Given the description of an element on the screen output the (x, y) to click on. 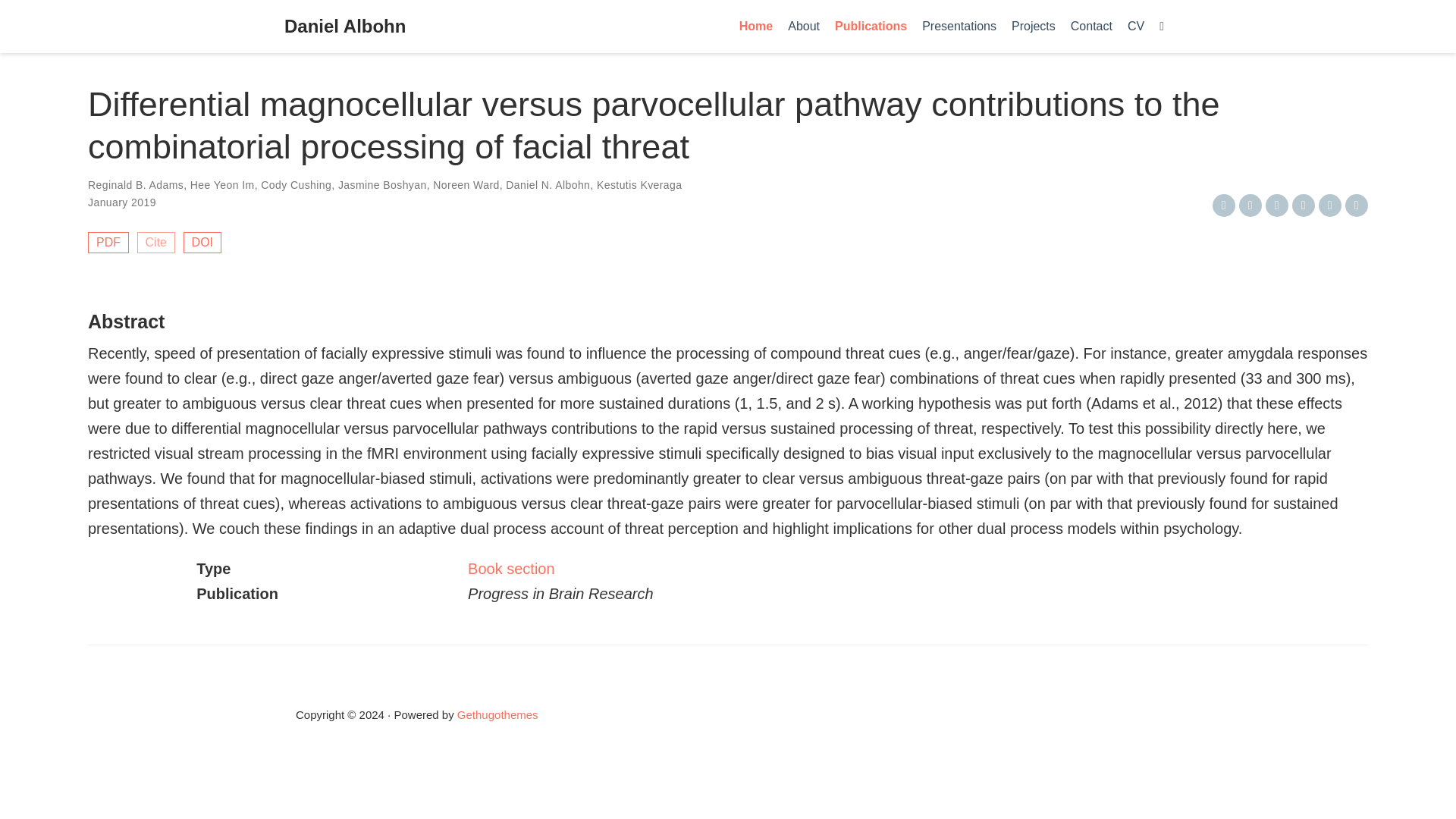
Daniel N. Albohn (547, 184)
Contact (1090, 26)
Jasmine Boshyan (381, 184)
Home (756, 26)
Hee Yeon Im (222, 184)
Noreen Ward (465, 184)
Kestutis Kveraga (639, 184)
DOI (202, 242)
About (803, 26)
Publications (870, 26)
PDF (108, 242)
Book section (510, 568)
Daniel Albohn (344, 26)
Presentations (959, 26)
Projects (1033, 26)
